Given the description of an element on the screen output the (x, y) to click on. 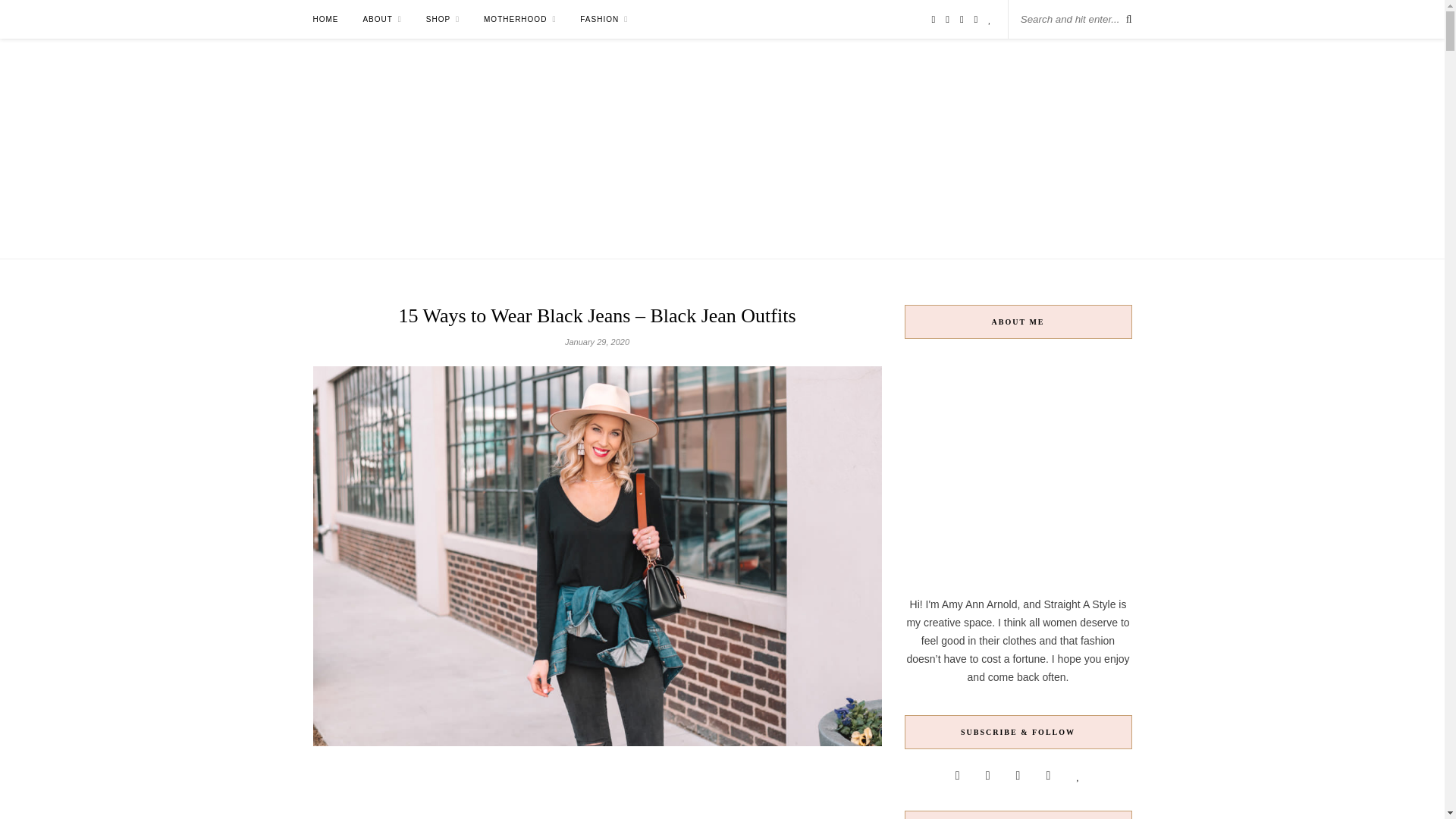
MOTHERHOOD (519, 19)
FASHION (603, 19)
ABOUT (381, 19)
